Given the description of an element on the screen output the (x, y) to click on. 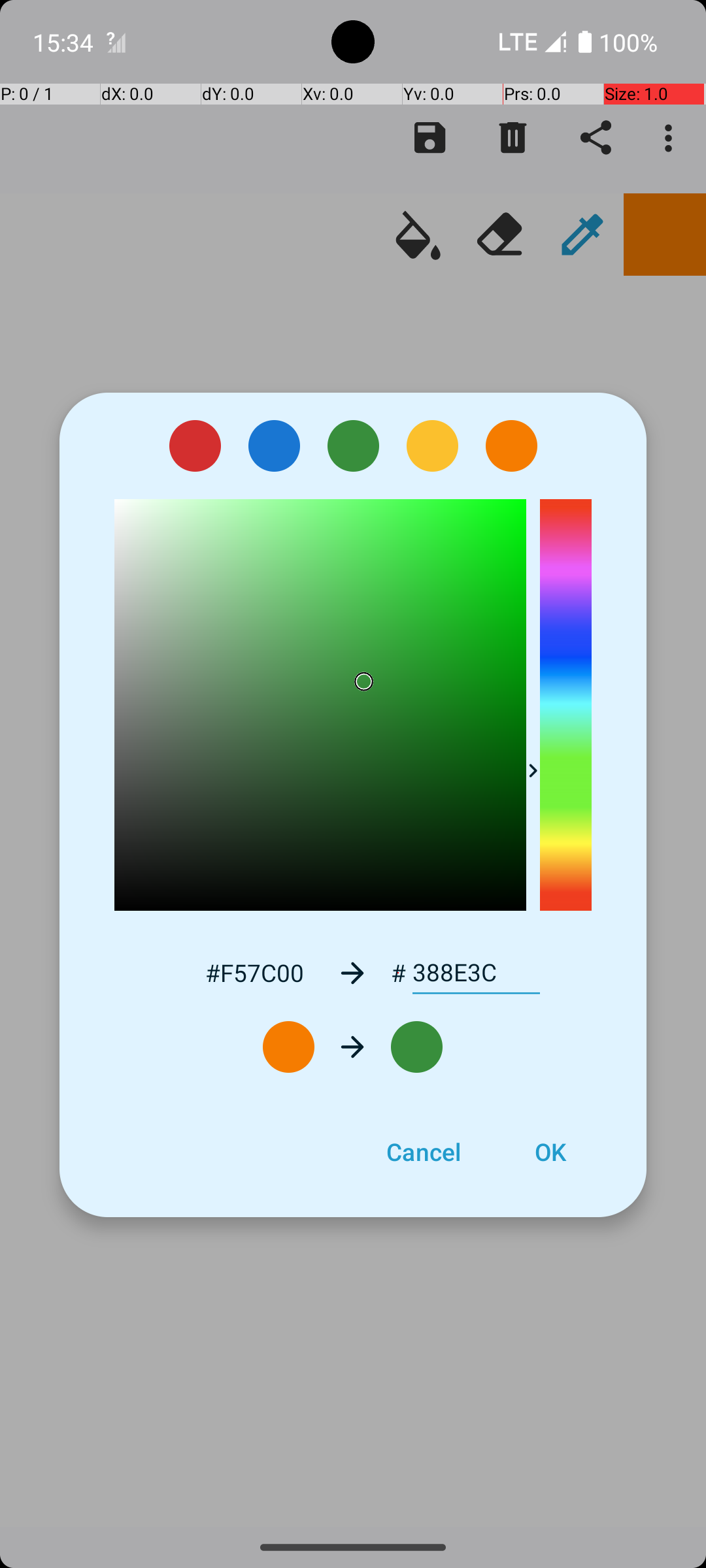
#F57C00 Element type: android.widget.TextView (254, 972)
388E3C Element type: android.widget.EditText (475, 972)
